Given the description of an element on the screen output the (x, y) to click on. 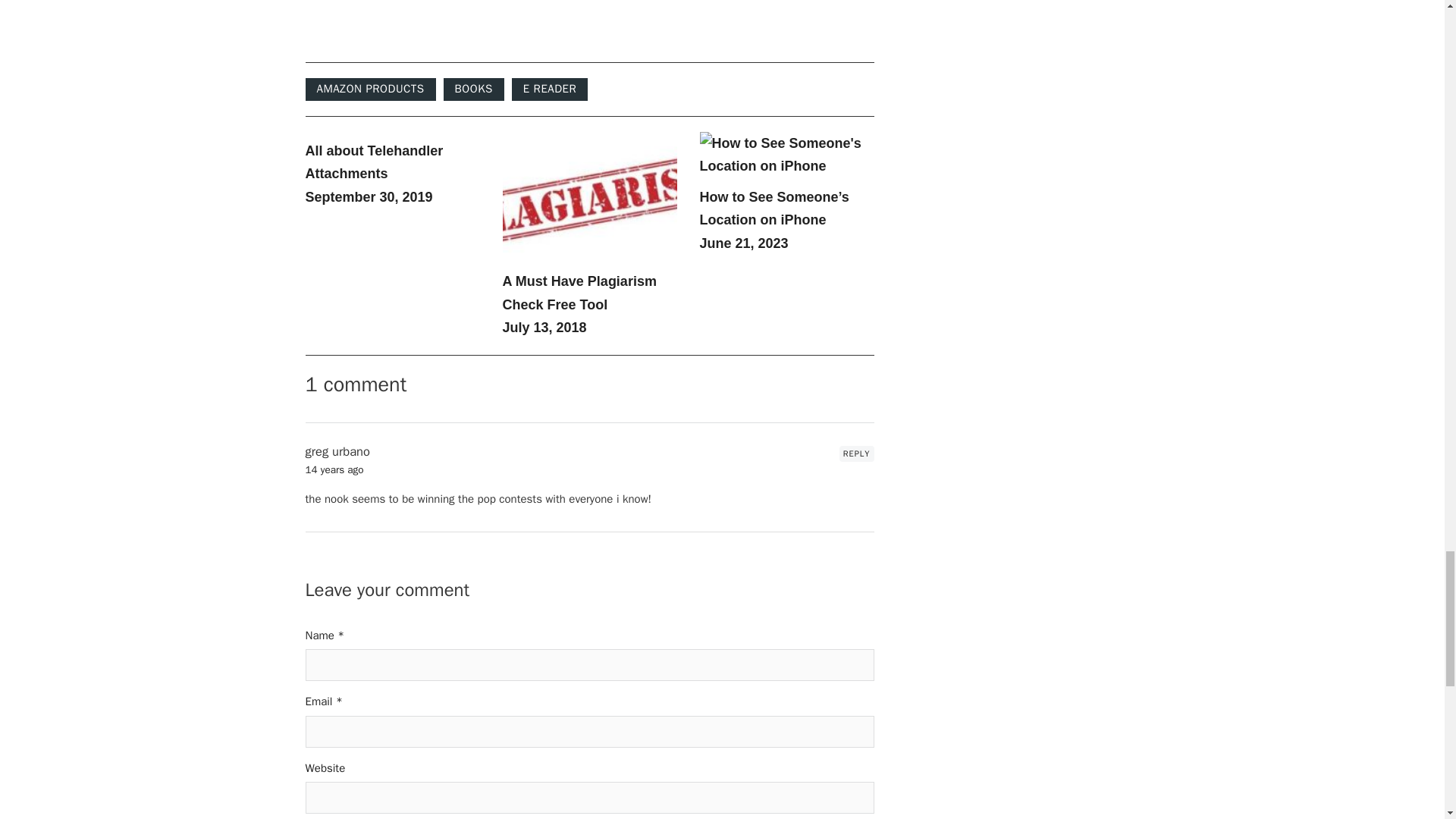
A Must Have Plagiarism Check Free Tool (579, 292)
E READER (550, 88)
14 years ago (333, 469)
REPLY (857, 453)
AMAZON PRODUCTS (369, 88)
BOOKS (473, 88)
All about Telehandler Attachments (373, 162)
